Given the description of an element on the screen output the (x, y) to click on. 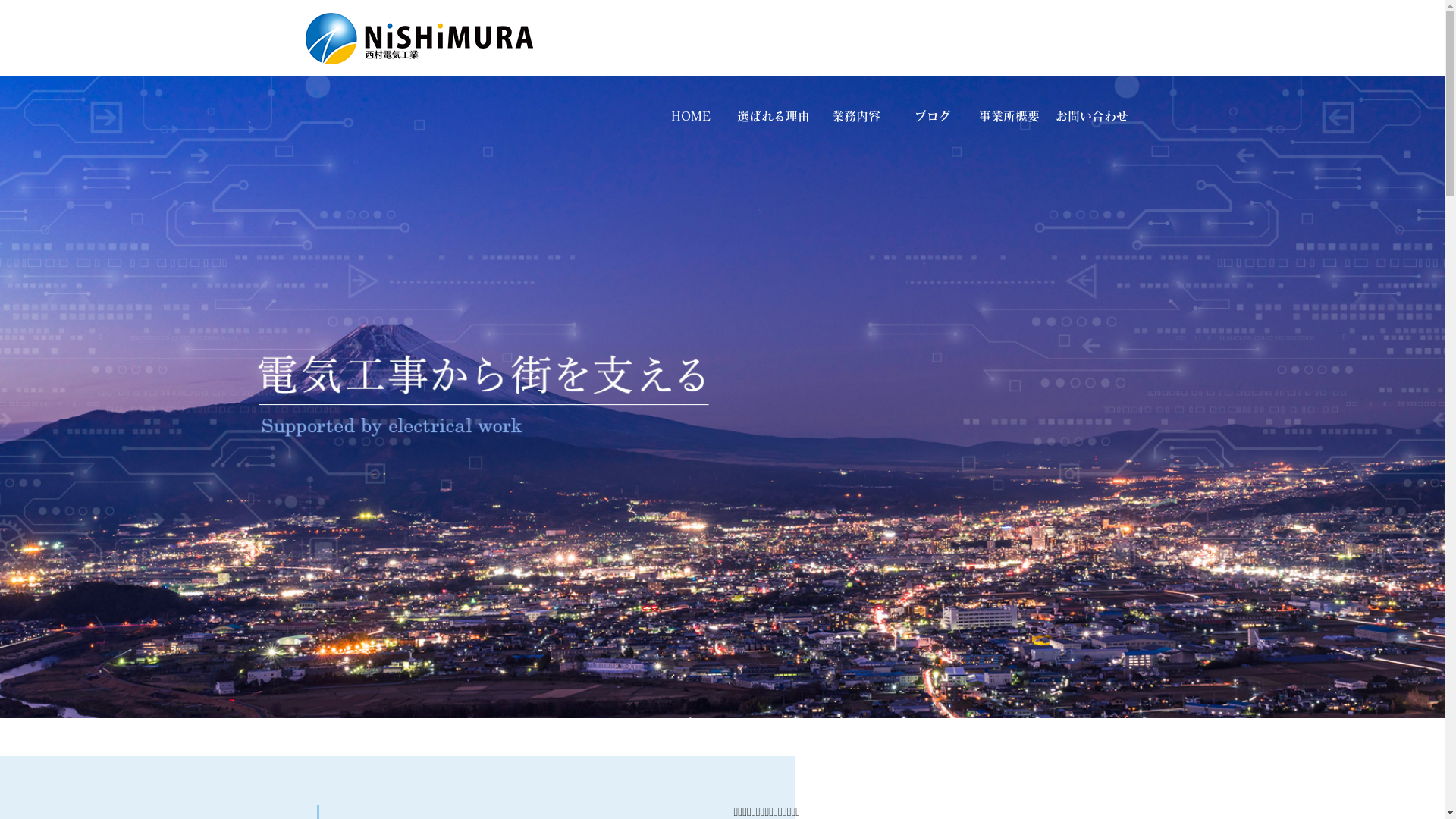
HOME Element type: text (690, 115)
